Given the description of an element on the screen output the (x, y) to click on. 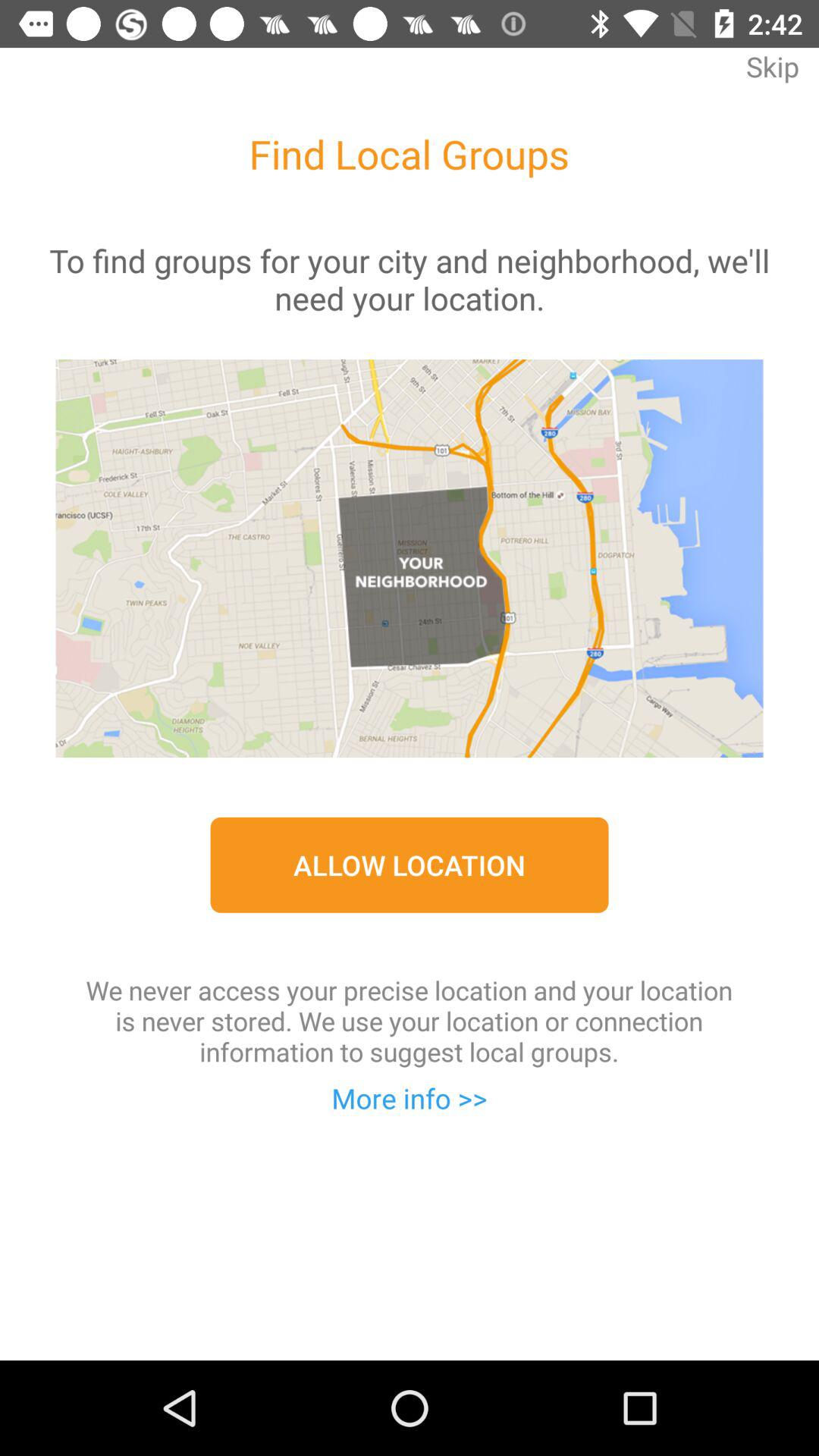
click item above to find groups (772, 77)
